Given the description of an element on the screen output the (x, y) to click on. 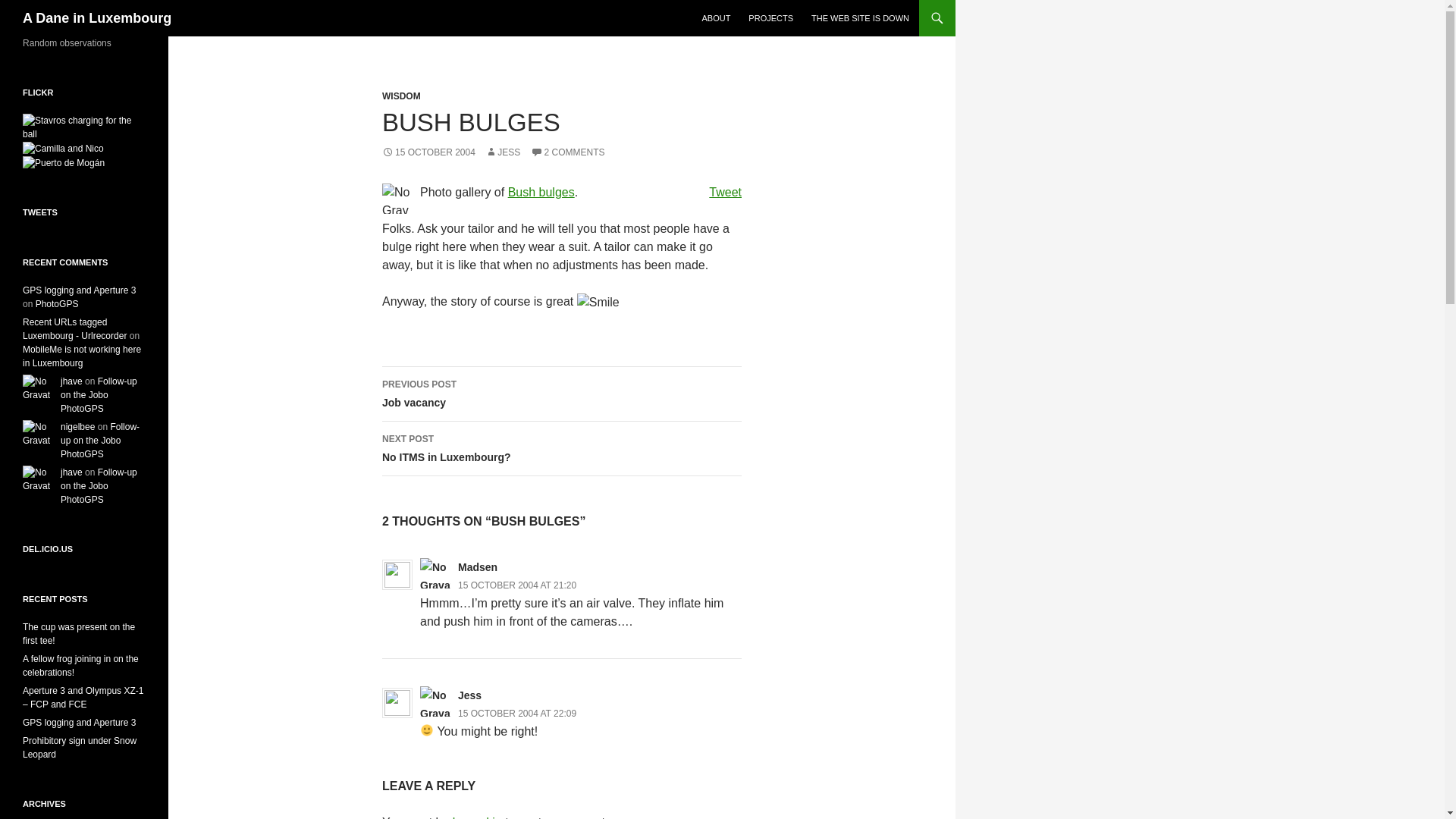
15 OCTOBER 2004 AT 22:09 (517, 713)
15 OCTOBER 2004 (428, 152)
ABOUT (716, 18)
Follow-up on the Jobo PhotoGPS (98, 485)
WISDOM (400, 95)
Recent URLs tagged Luxembourg - Urlrecorder (74, 328)
Follow-up on the Jobo PhotoGPS (100, 440)
logged in (477, 817)
Bush bulges (541, 192)
